Given the description of an element on the screen output the (x, y) to click on. 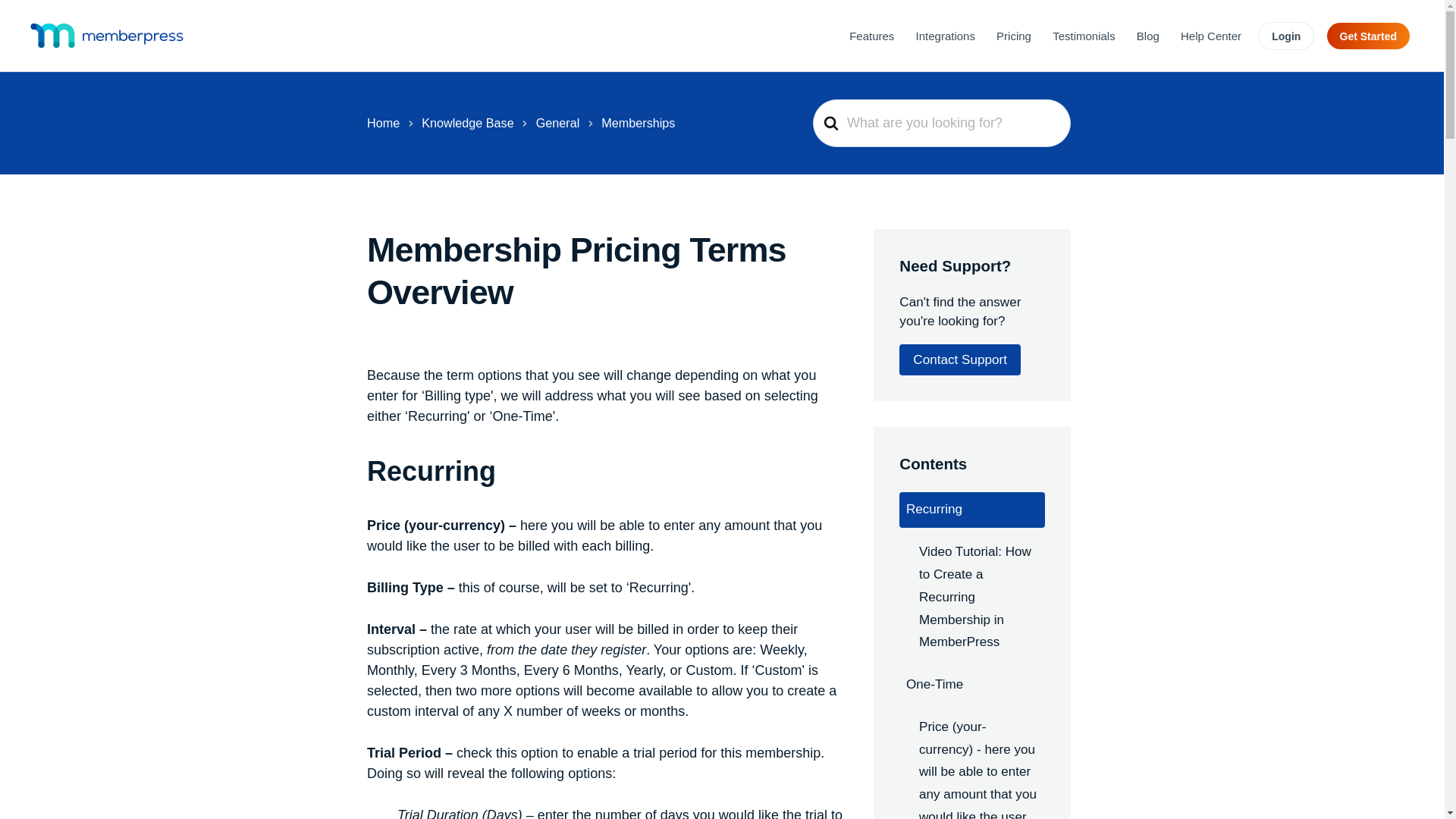
Memberships (638, 122)
Home (382, 122)
One-Time (971, 683)
Contact Support (959, 359)
Integrations (945, 35)
Knowledge Base (467, 122)
Get Started (1367, 35)
Recurring (971, 509)
Help Center (1211, 35)
